Given the description of an element on the screen output the (x, y) to click on. 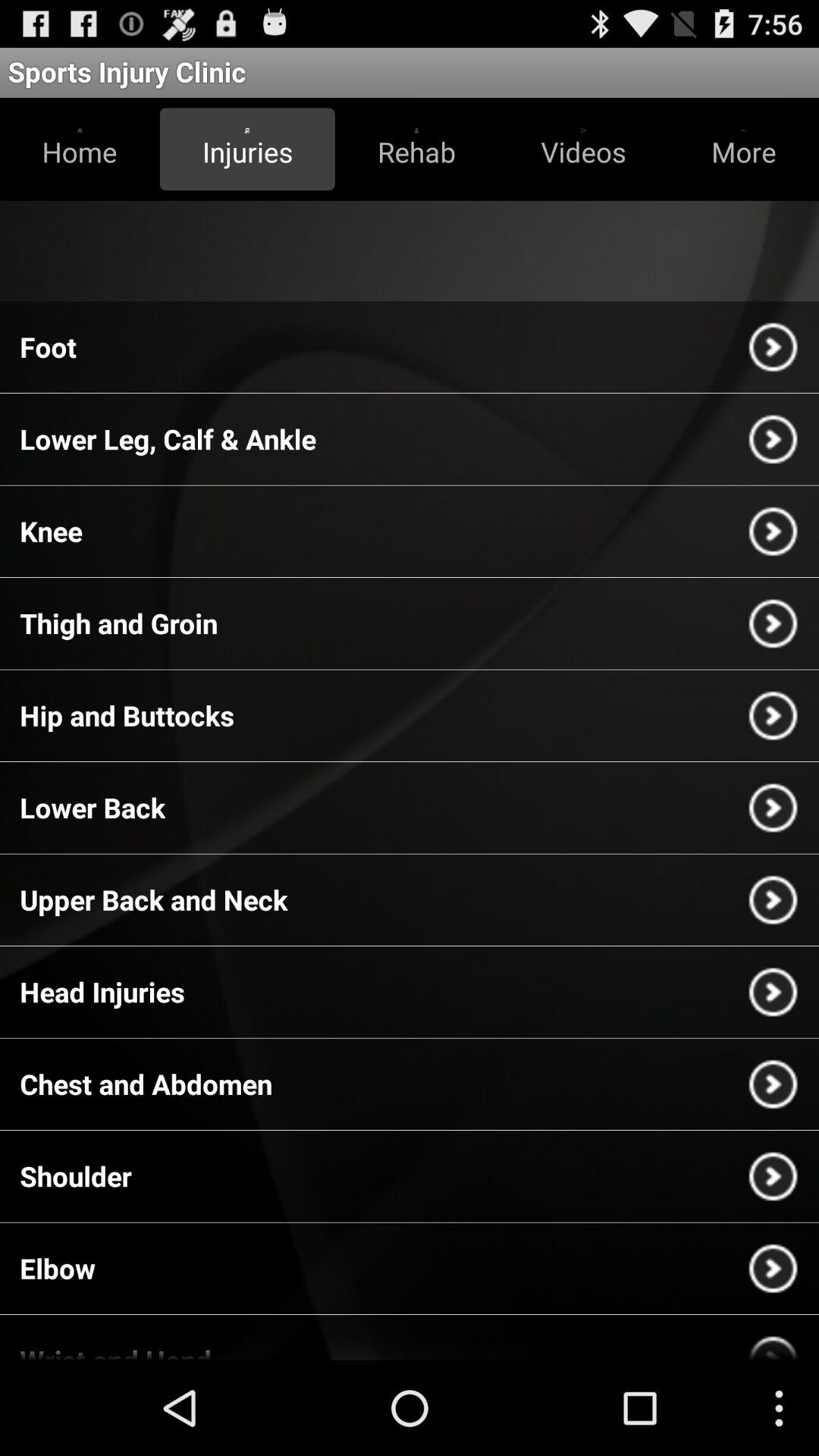
scroll to the chest and abdomen item (145, 1083)
